Given the description of an element on the screen output the (x, y) to click on. 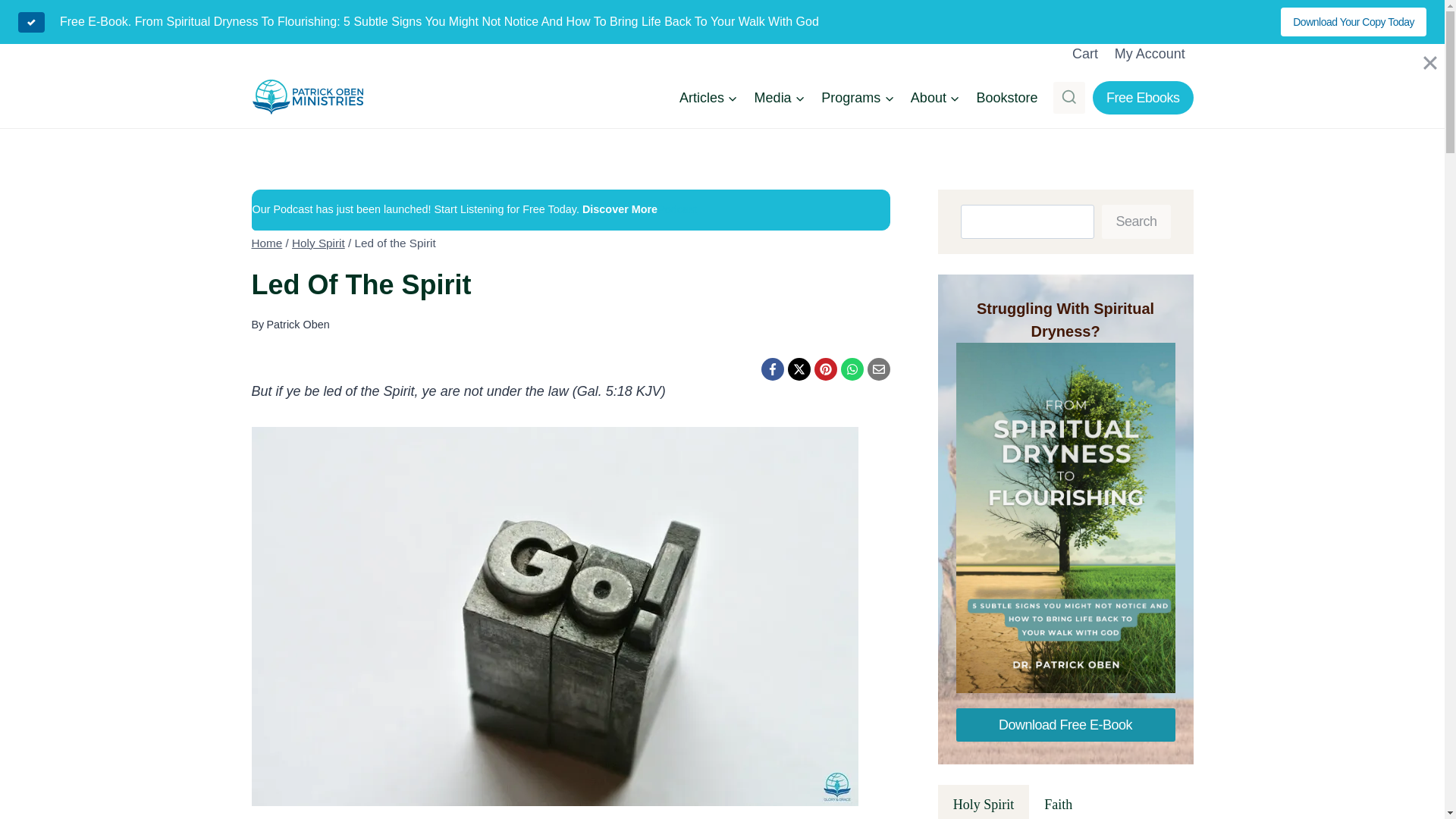
Cart (1085, 53)
Articles (708, 97)
Patrick Oben (297, 324)
About (935, 97)
Holy Spirit (318, 242)
My Account (1149, 53)
Programs (857, 97)
Podcast (677, 209)
Free Ebooks (1143, 97)
Media (779, 97)
Bookstore (1007, 97)
Home (266, 242)
